Given the description of an element on the screen output the (x, y) to click on. 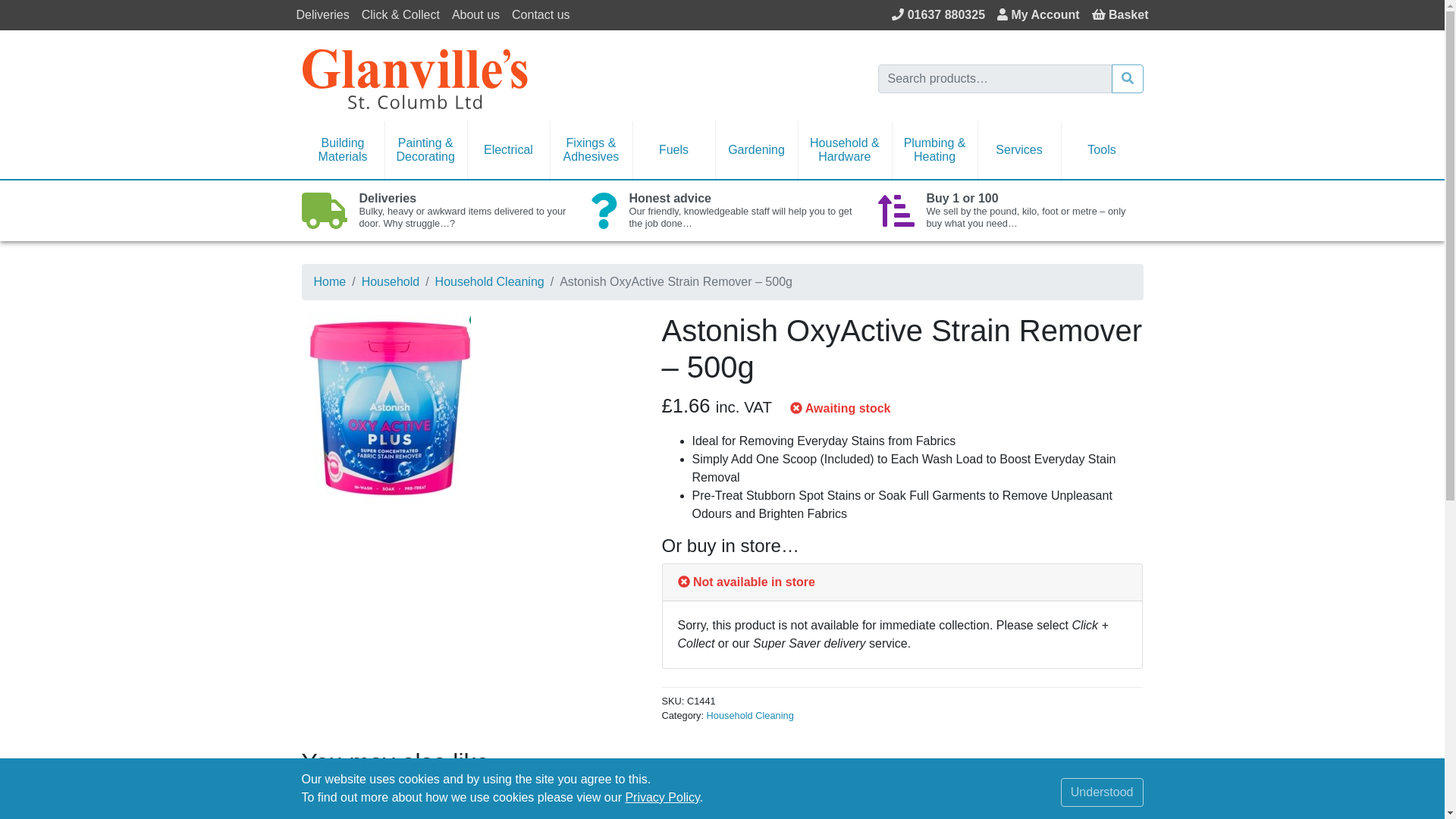
Understood (1101, 792)
Building Materials (342, 150)
Building Materials (342, 150)
My Account (1038, 15)
Contact us (540, 15)
About us (475, 15)
Search (1127, 78)
Deliveries (322, 15)
Glanville's St. Columb Ltd (414, 77)
01637 880325 (938, 15)
Privacy Policy (661, 797)
Basket (1120, 15)
